Given the description of an element on the screen output the (x, y) to click on. 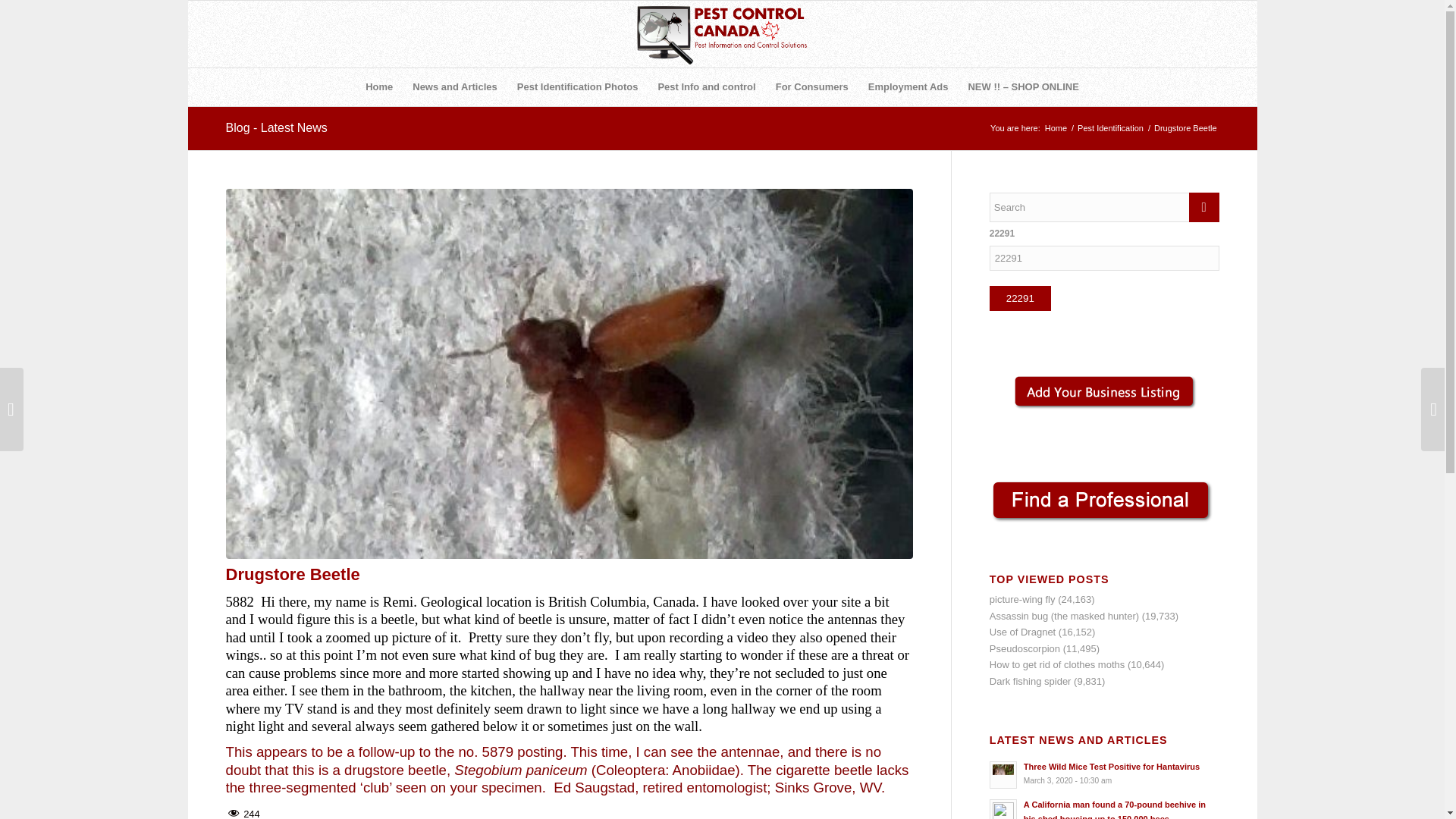
News and Articles (454, 86)
Permanent Link: Blog - Latest News (276, 127)
Pest Identification Photos (576, 86)
Permanent Link: Drugstore Beetle (292, 574)
22291 (1020, 298)
22291 (1020, 298)
Home (379, 86)
Pest Info and control (706, 86)
